Given the description of an element on the screen output the (x, y) to click on. 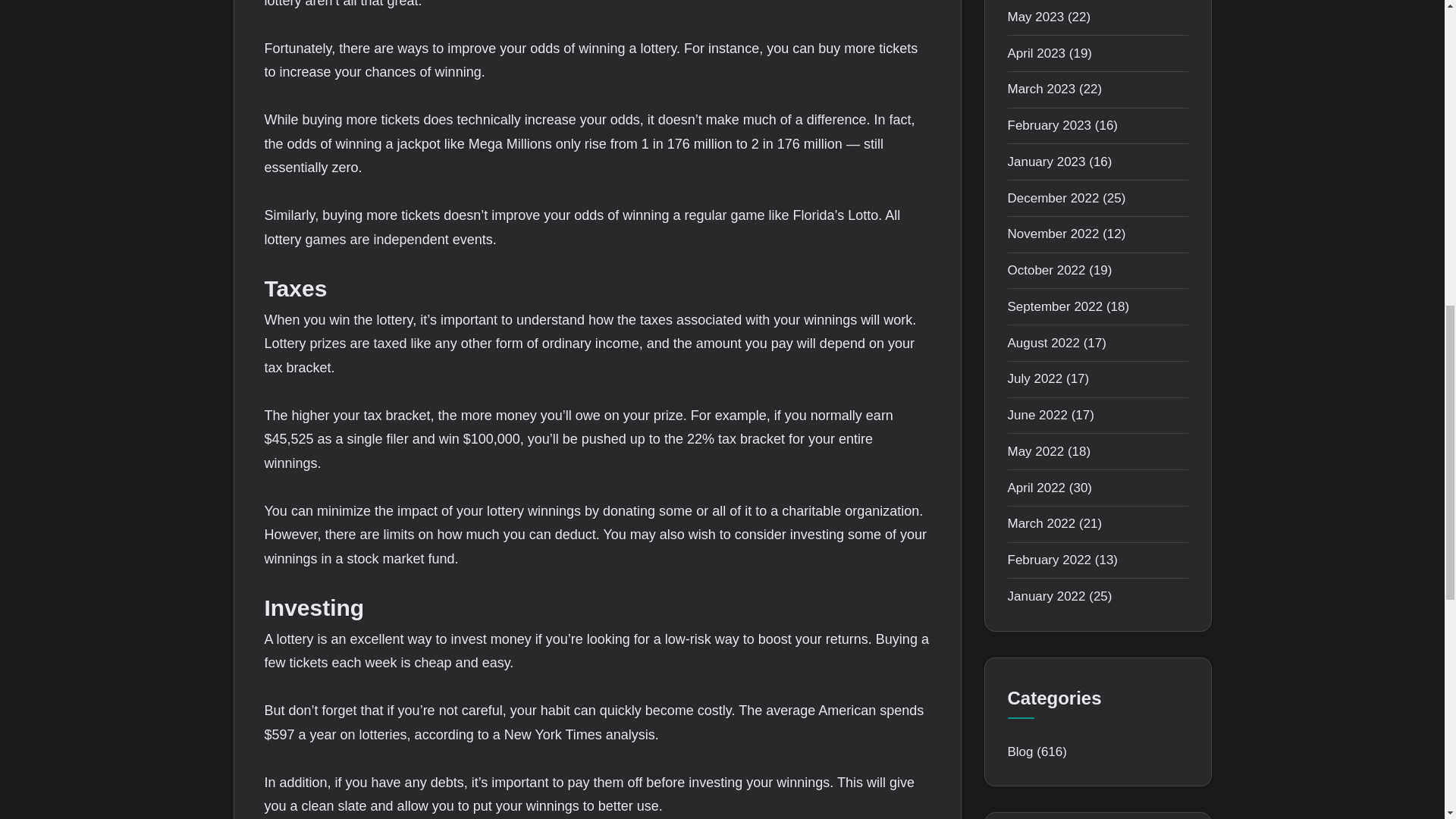
September 2022 (1054, 306)
May 2023 (1035, 16)
April 2023 (1036, 52)
January 2023 (1045, 161)
December 2022 (1053, 197)
February 2023 (1048, 124)
August 2022 (1042, 342)
October 2022 (1045, 269)
March 2023 (1041, 88)
November 2022 (1053, 233)
